Given the description of an element on the screen output the (x, y) to click on. 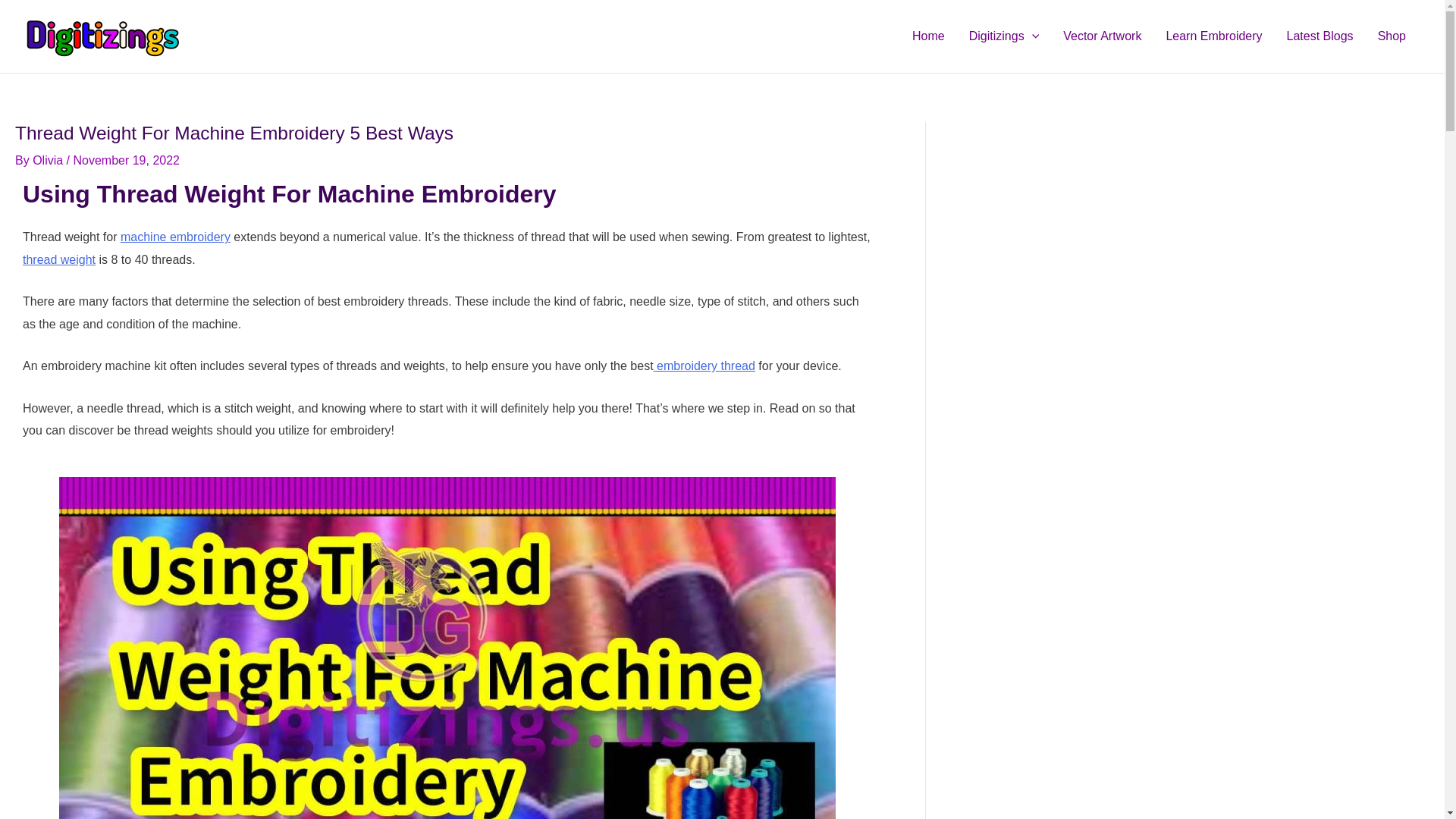
Olivia (48, 160)
thread weight (59, 259)
Vector Artwork (1102, 36)
Latest Blogs (1320, 36)
View all posts by Olivia (48, 160)
machine embroidery (175, 236)
embroidery thread (704, 365)
Shop (1391, 36)
Digitizings (1003, 36)
Learn Embroidery (1213, 36)
